Given the description of an element on the screen output the (x, y) to click on. 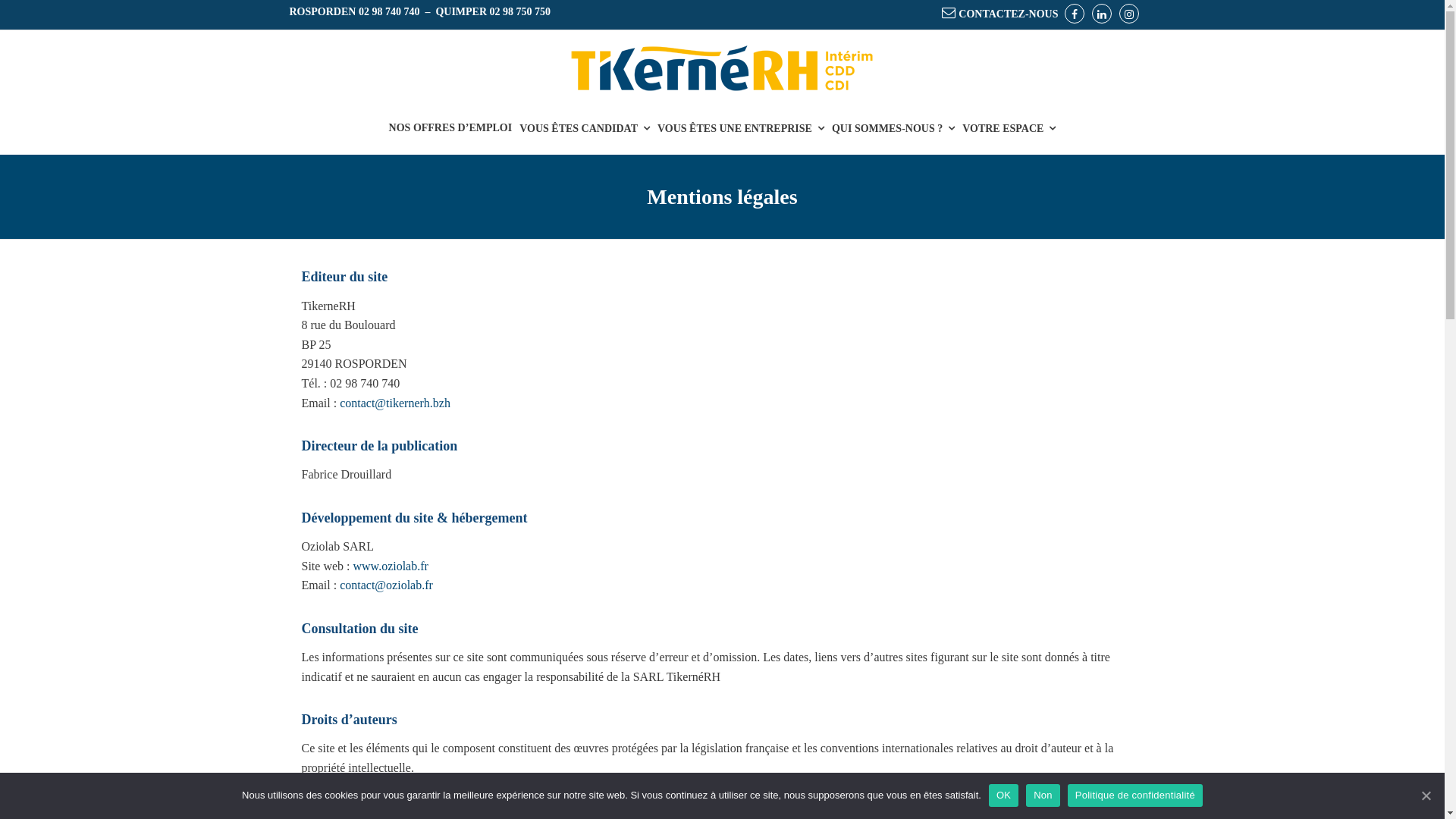
02 98 740 740 Element type: text (389, 11)
Non Element type: text (1043, 795)
contact@oziolab.fr Element type: text (386, 584)
OK Element type: text (1003, 795)
VOTRE ESPACE Element type: text (1008, 120)
QUI SOMMES-NOUS ? Element type: text (893, 120)
contact@tikernerh.bzh Element type: text (394, 402)
www.oziolab.fr Element type: text (390, 565)
CONTACTEZ-NOUS Element type: text (999, 13)
02 98 750 750 Element type: text (520, 11)
TiKerneRH Element type: hover (722, 68)
